Given the description of an element on the screen output the (x, y) to click on. 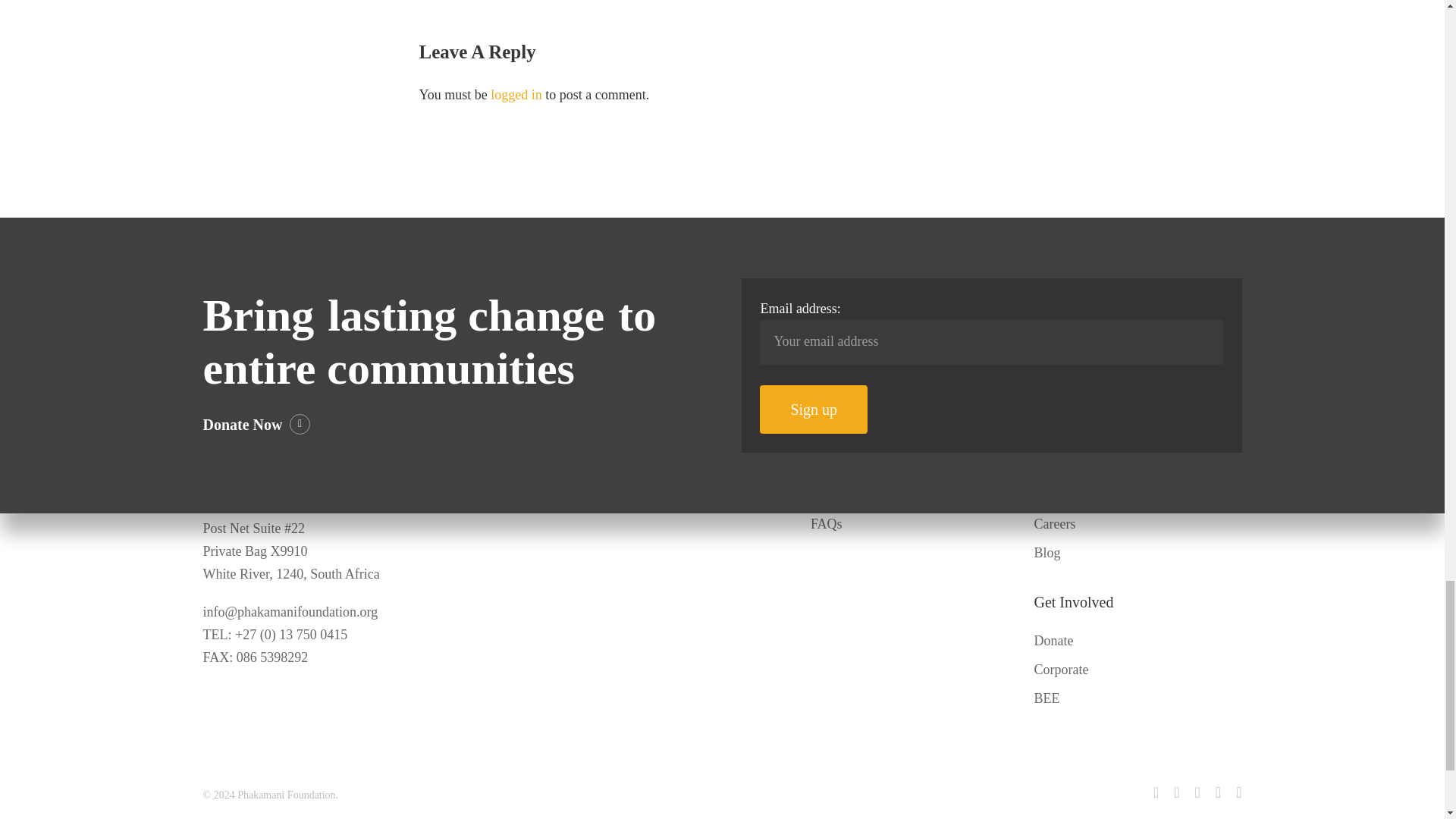
logged in (515, 94)
Sign up (813, 409)
